Given the description of an element on the screen output the (x, y) to click on. 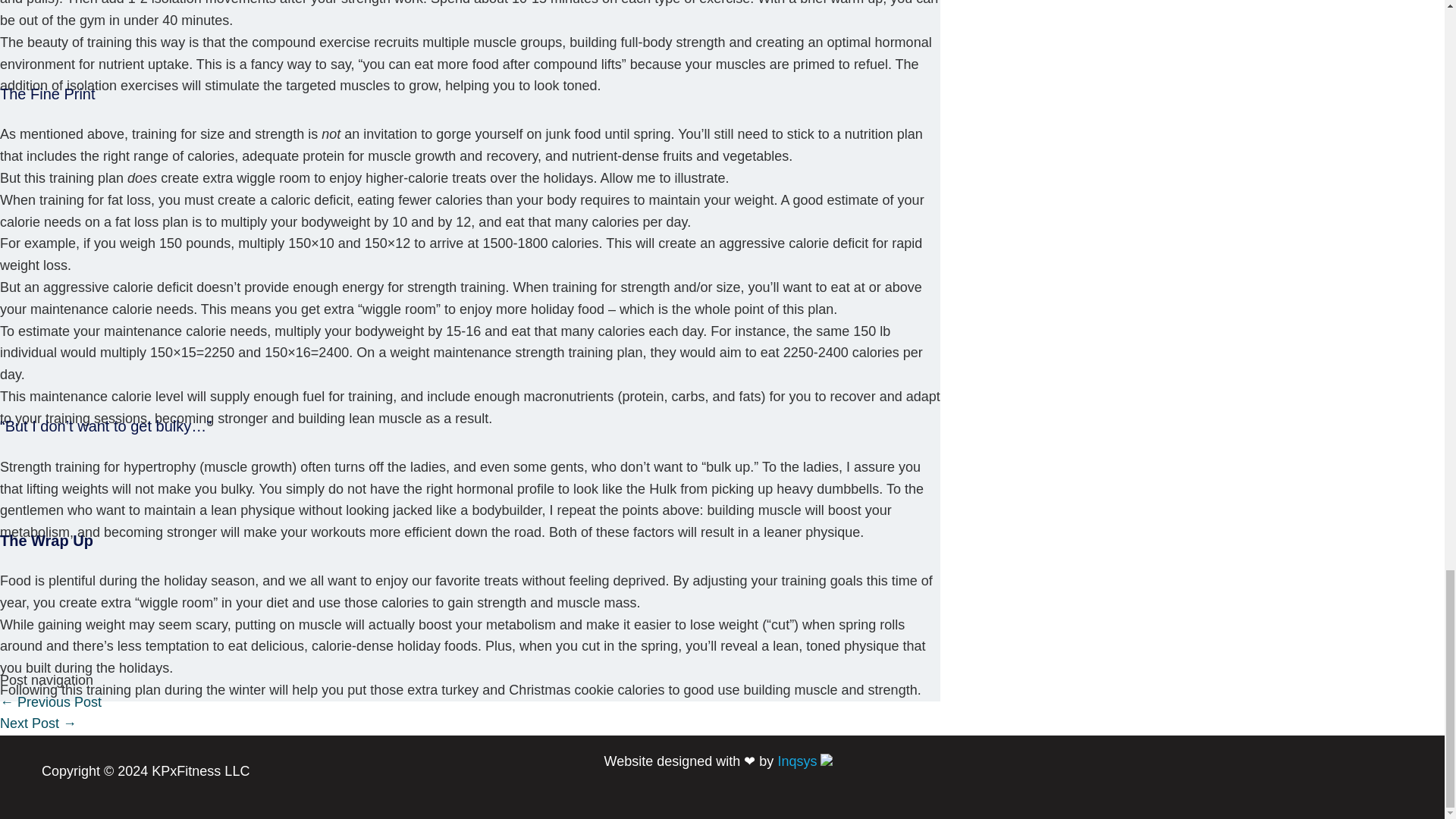
KPxKitchen: Bacon Braised Brussel Sprouts (50, 702)
Inqsys (799, 761)
6 Simple Ways To Eat More Protein (38, 723)
